Given the description of an element on the screen output the (x, y) to click on. 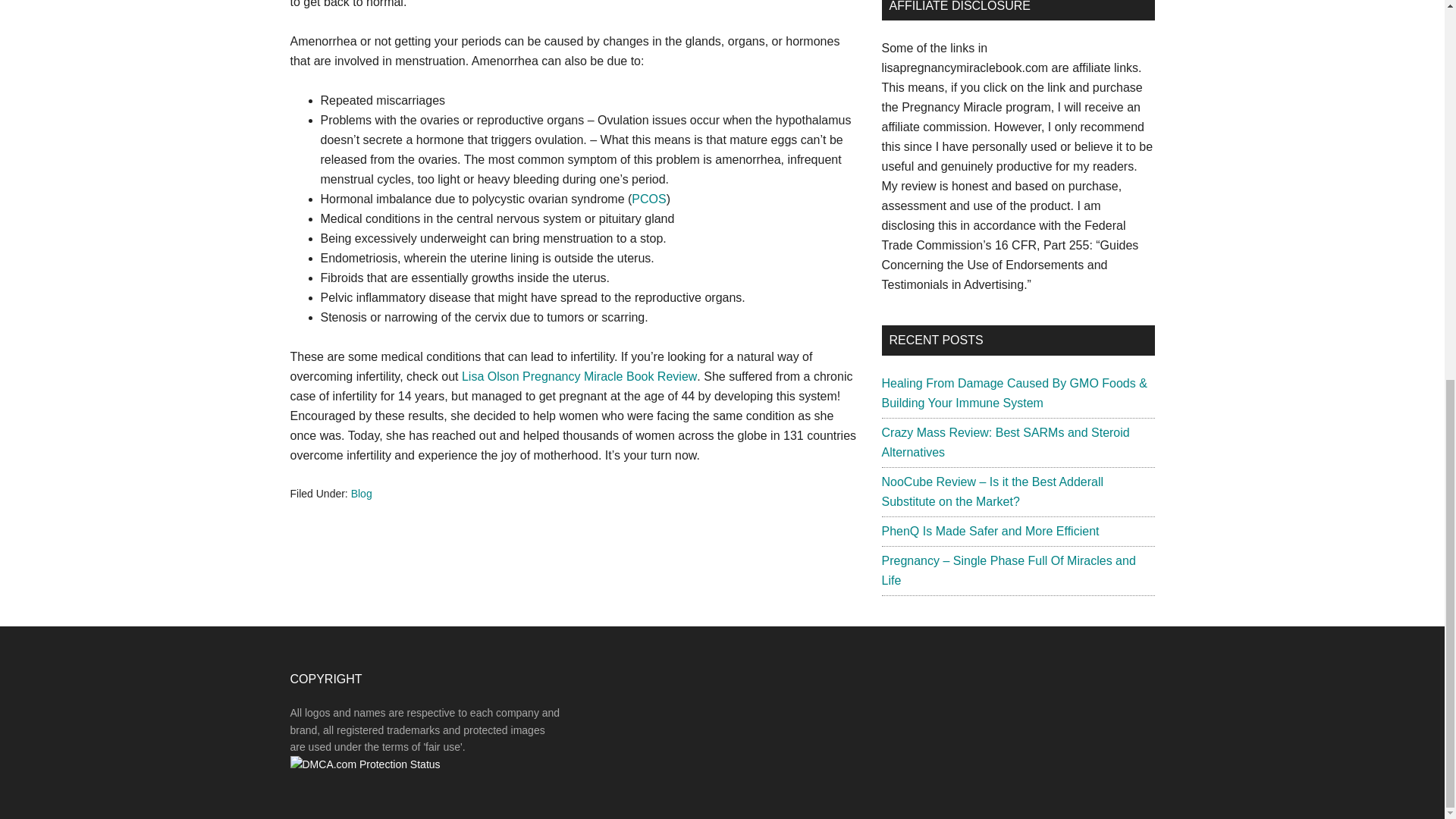
DMCA.com Protection Status (364, 764)
PCOS (648, 198)
Lisa Olson Pregnancy Miracle Book Review (579, 376)
Crazy Mass Review: Best SARMs and Steroid Alternatives (1004, 441)
PhenQ Is Made Safer and More Efficient (989, 530)
Blog (361, 493)
